Given the description of an element on the screen output the (x, y) to click on. 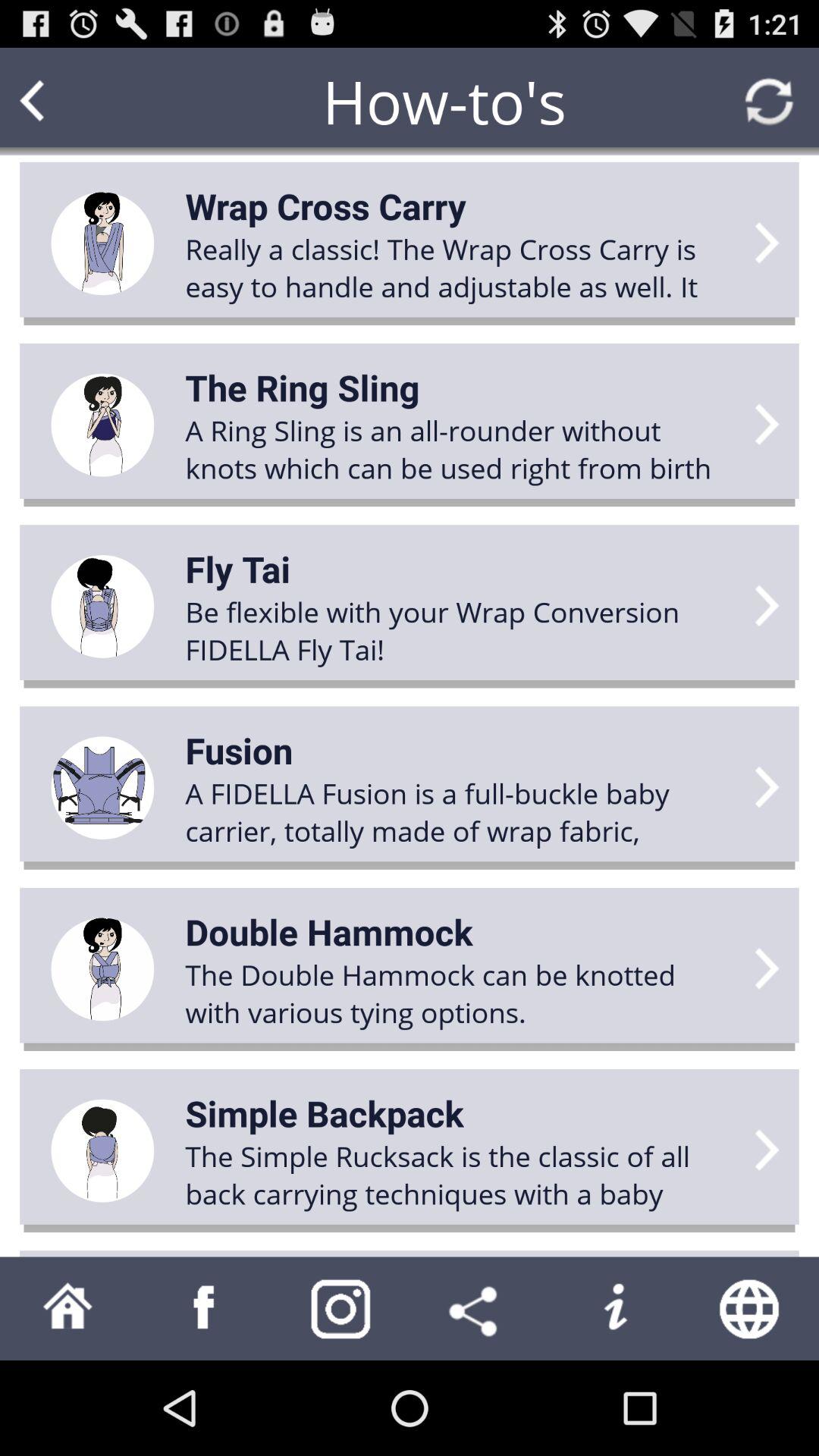
insdageram (341, 1308)
